Given the description of an element on the screen output the (x, y) to click on. 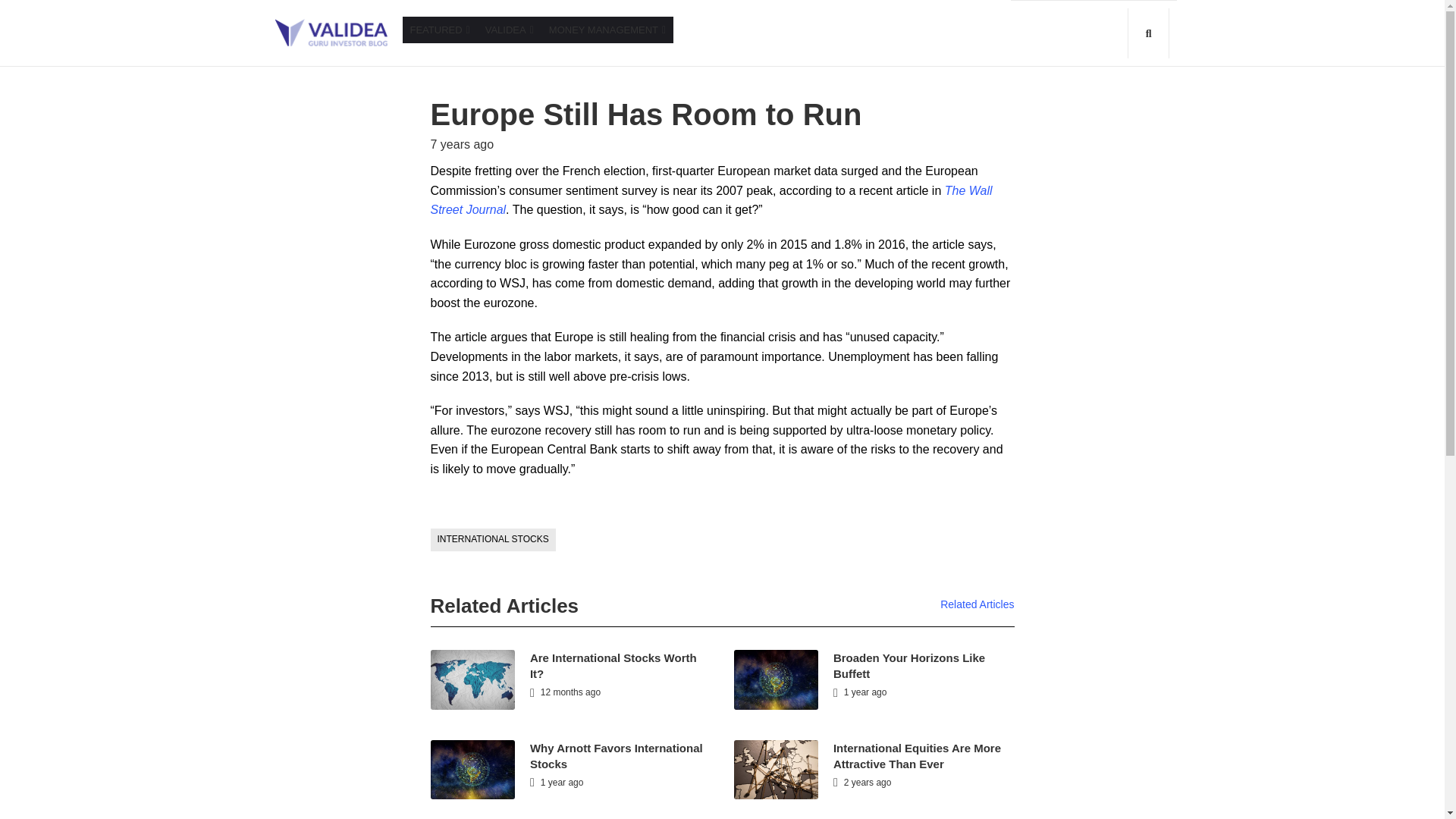
International Equities Are More Attractive Than Ever (916, 756)
VALIDEA (509, 29)
The Wall Street Journal (711, 200)
Why Arnott Favors International Stocks (616, 756)
7 years ago (462, 144)
12 months ago (564, 692)
International Equities Are More Attractive Than Ever (916, 756)
Broaden Your Horizons Like Buffett (908, 665)
1 year ago (859, 692)
INTERNATIONAL STOCKS (493, 539)
Are International Stocks Worth It? (613, 665)
Are International Stocks Worth It? (613, 665)
Broaden Your Horizons Like Buffett (908, 665)
MONEY MANAGEMENT (606, 29)
1 year ago (556, 782)
